Given the description of an element on the screen output the (x, y) to click on. 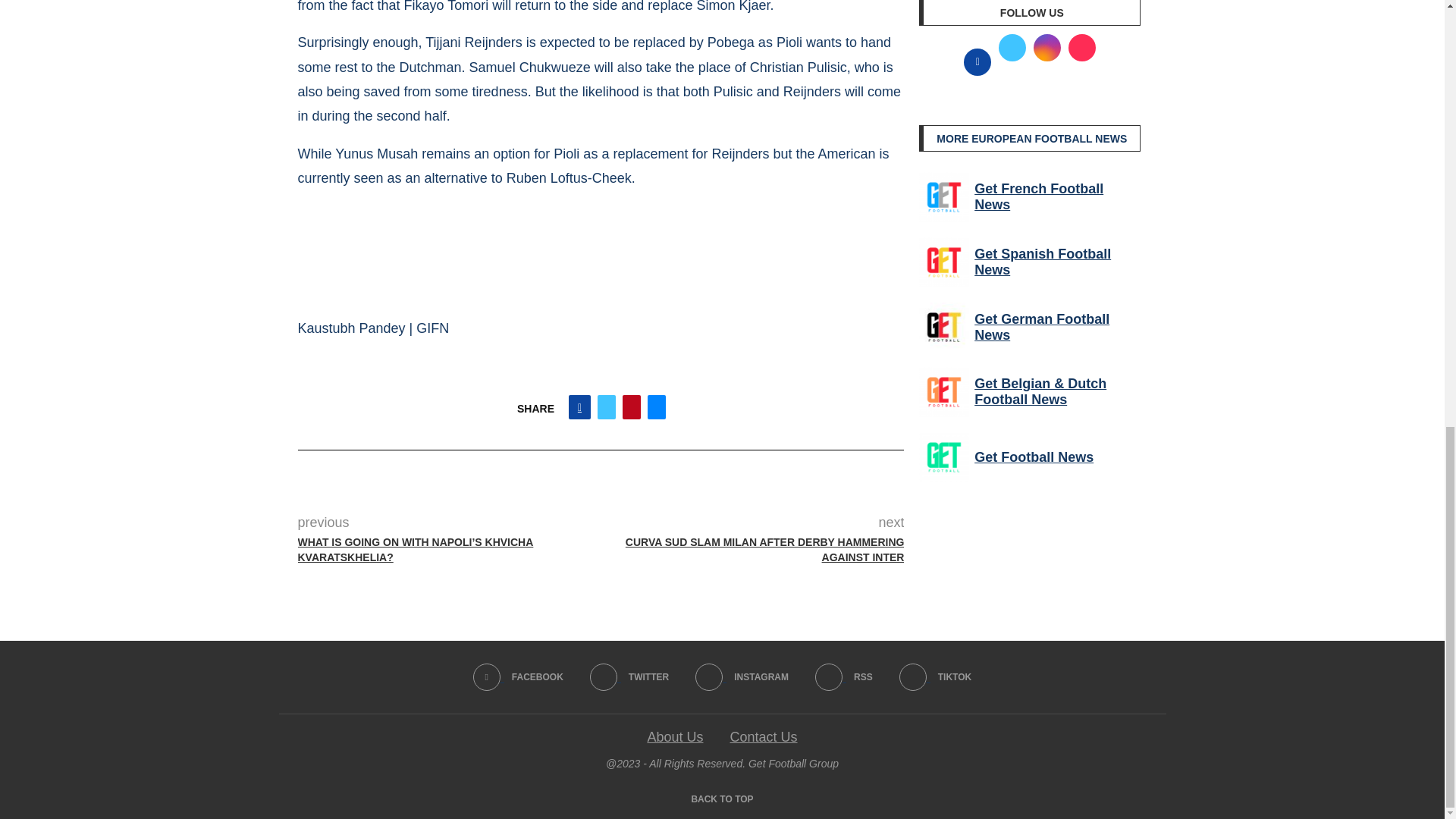
Get Spanish Football News (943, 262)
Get German Football News (943, 327)
Get Football News (943, 457)
Get French Football News (943, 196)
